Given the description of an element on the screen output the (x, y) to click on. 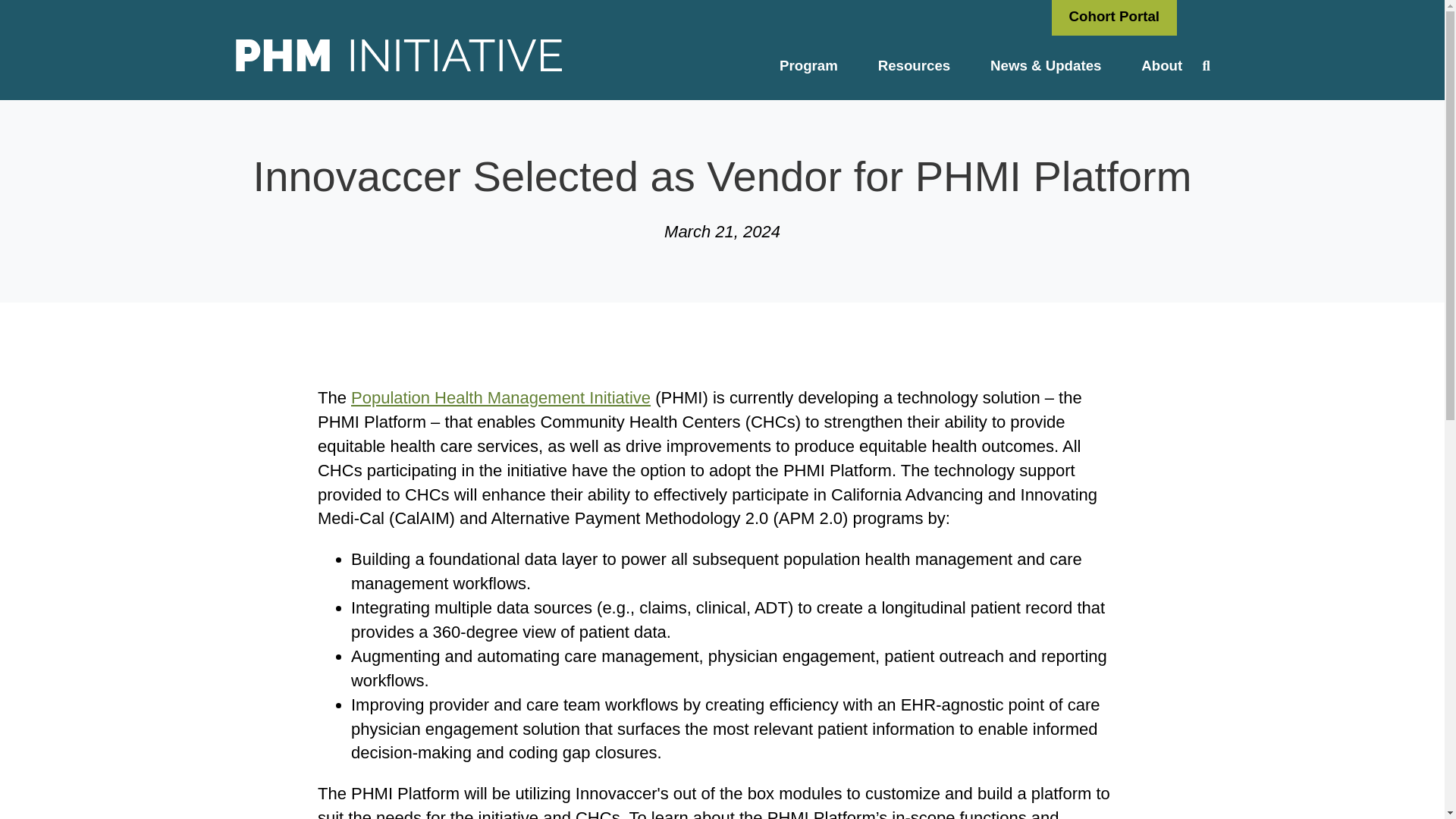
Resources (913, 65)
Resources (913, 65)
Cohort Portal (1114, 17)
Population Health Management Initiative (500, 397)
Cohort Portal (1114, 17)
About (1161, 65)
About (1161, 65)
Program (809, 65)
Program (809, 65)
